Given the description of an element on the screen output the (x, y) to click on. 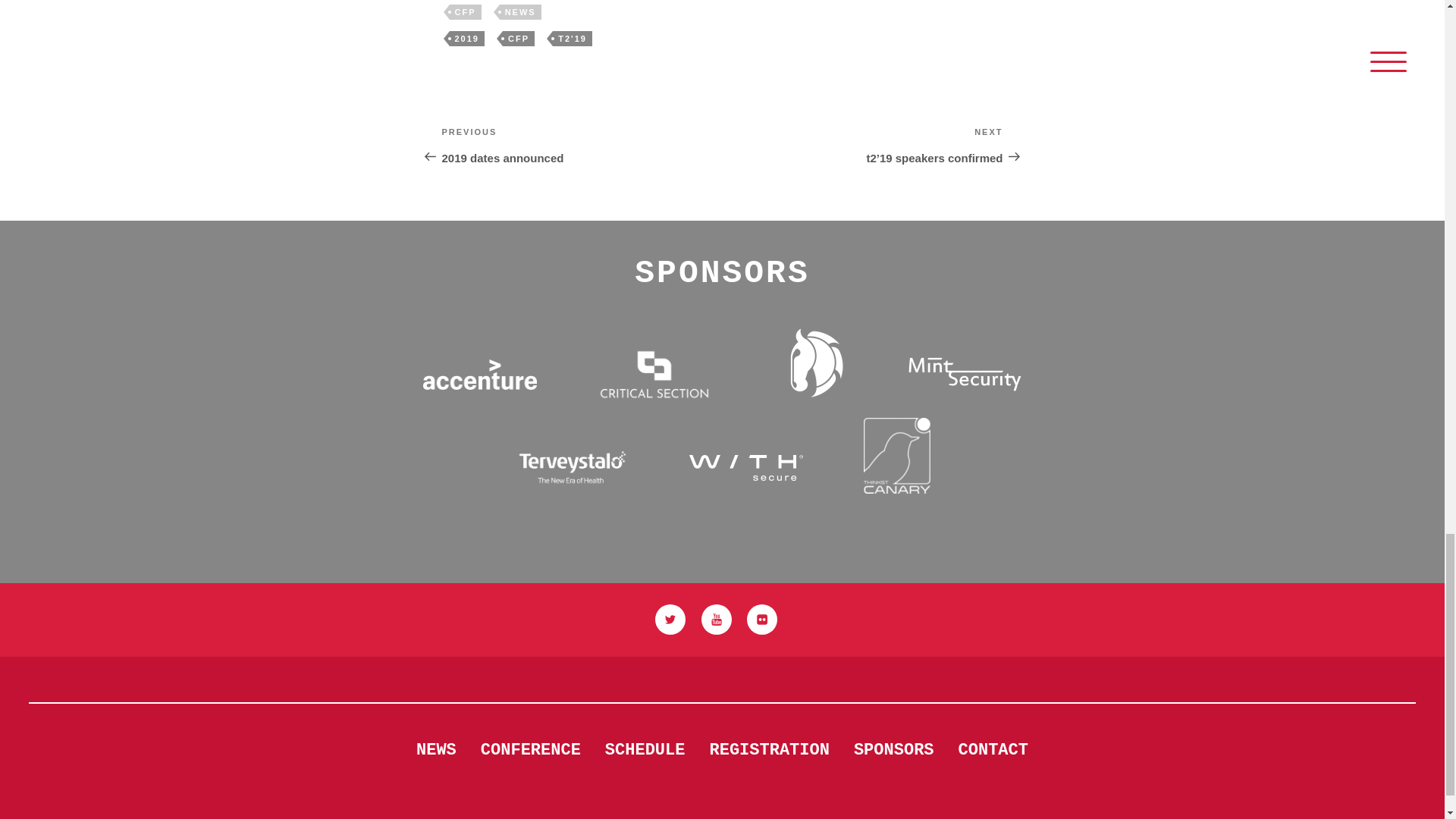
NEWS (520, 11)
2019 (465, 38)
CFP (518, 38)
CFP (464, 11)
T2'19 (581, 144)
